Given the description of an element on the screen output the (x, y) to click on. 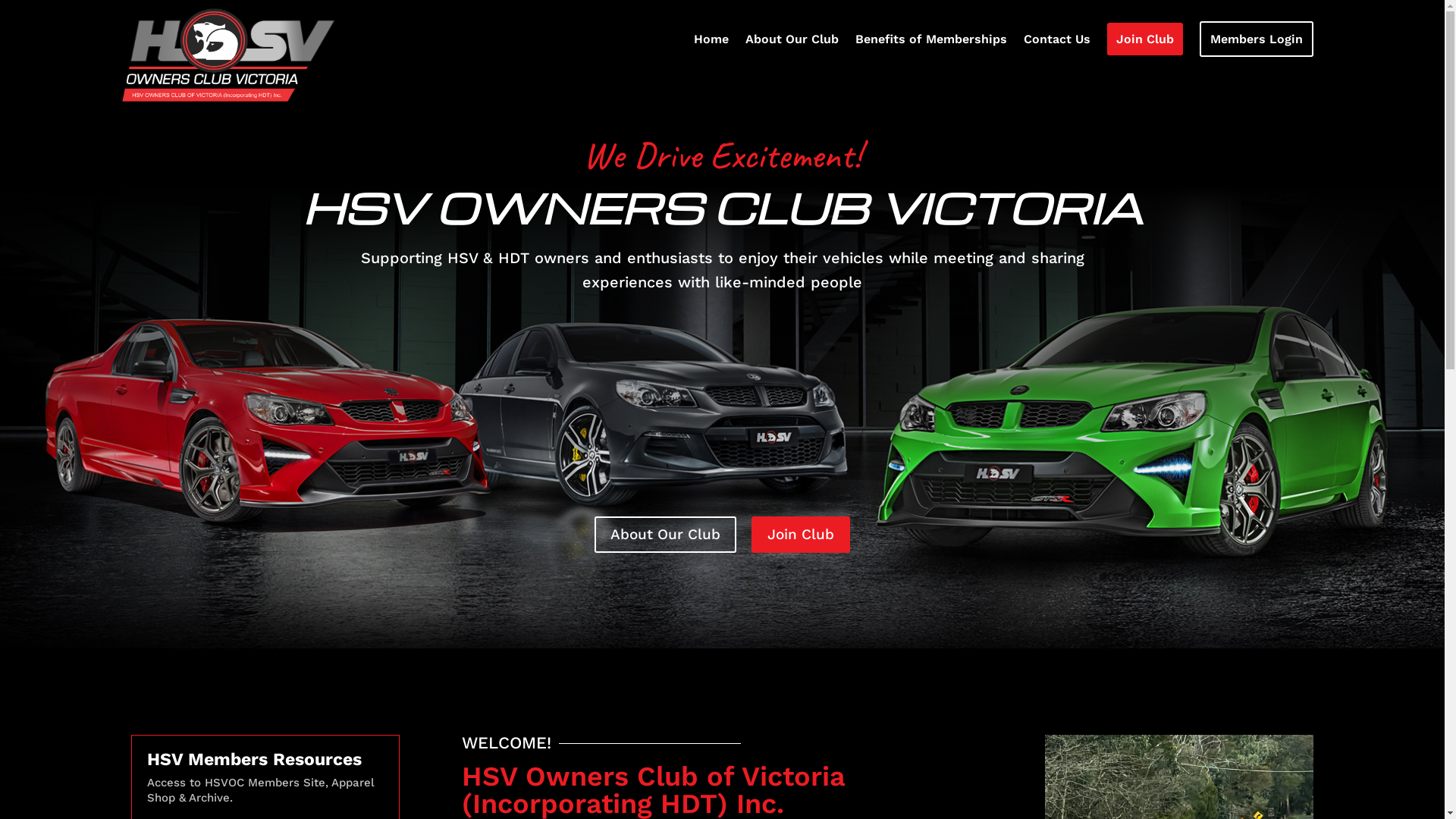
Members Login Element type: text (1256, 42)
Benefits of Memberships Element type: text (931, 42)
Contact Us Element type: text (1056, 42)
About Our Club Element type: text (665, 534)
Join Club Element type: text (800, 534)
Join Club Element type: text (1145, 42)
Home Element type: text (710, 42)
About Our Club Element type: text (791, 42)
